Given the description of an element on the screen output the (x, y) to click on. 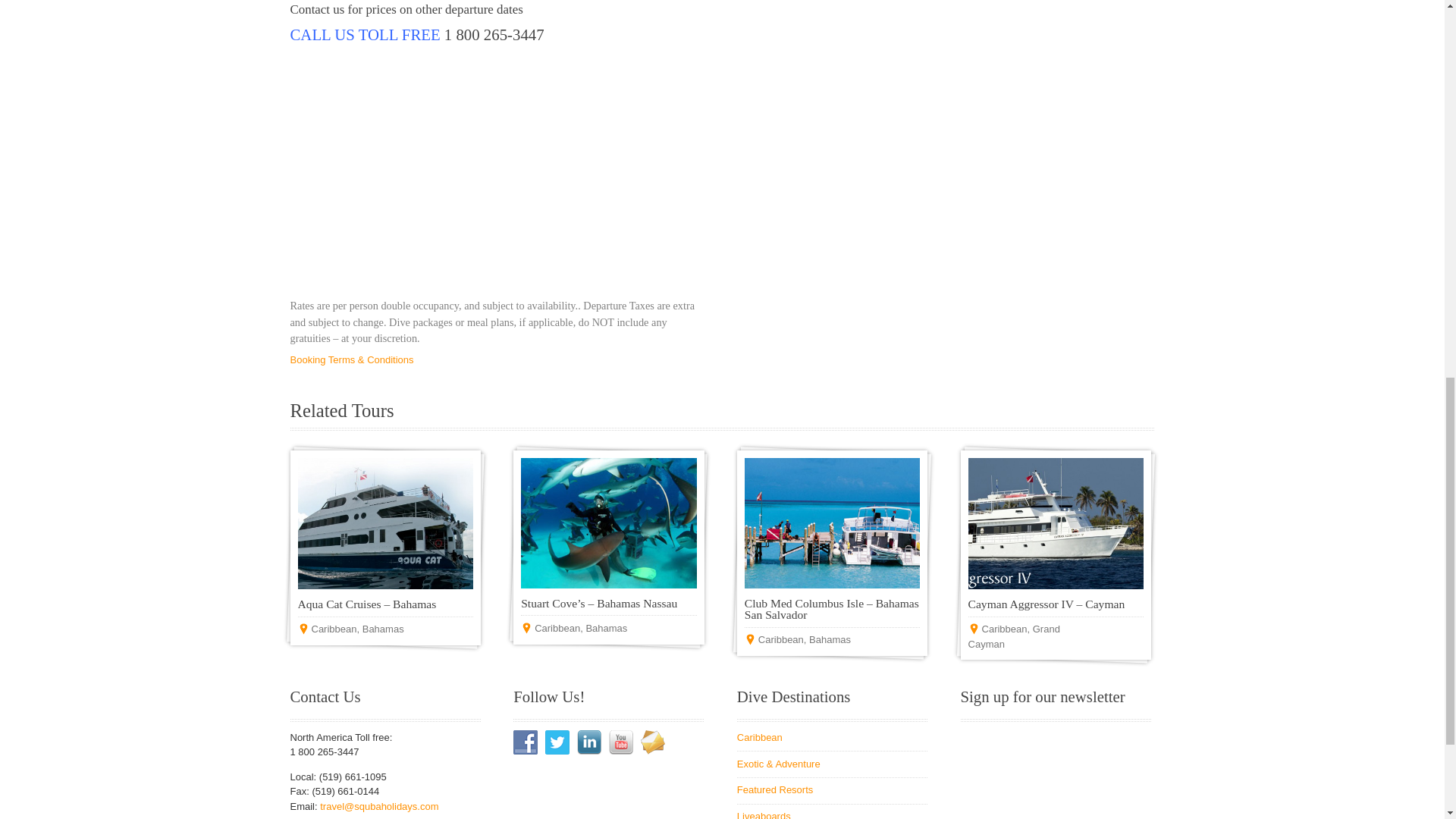
Follow Us on Facebook (525, 742)
Follow Us on Twitter (556, 742)
Follow Us on YouTube (620, 742)
Follow Us on E-mail (652, 742)
Contact Us (316, 9)
Follow Us on LinkedIn (588, 742)
Contact us (316, 9)
